Given the description of an element on the screen output the (x, y) to click on. 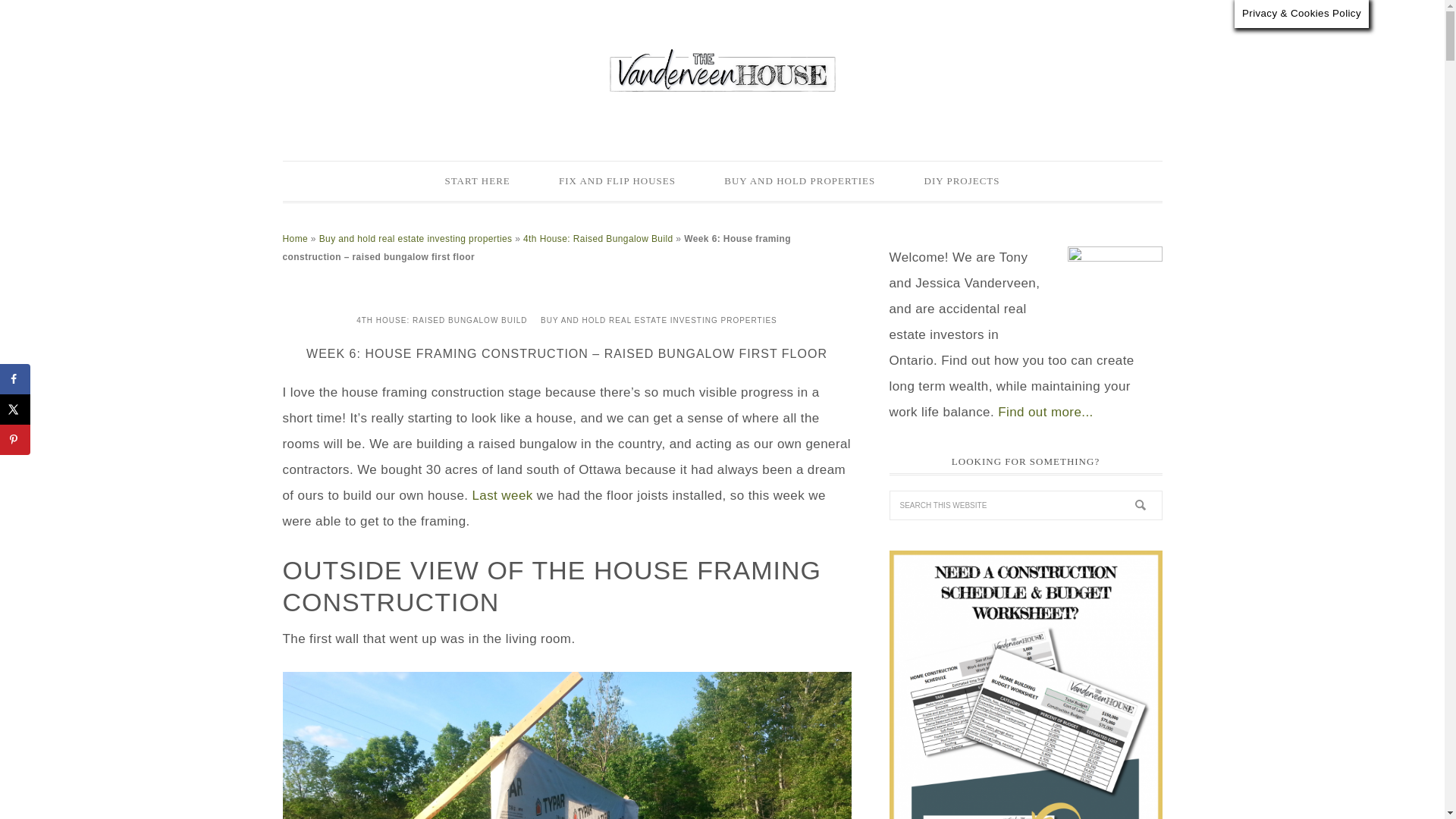
4th House: Raised Bungalow Build (597, 238)
Share on Facebook (15, 378)
4TH HOUSE: RAISED BUNGALOW BUILD (441, 320)
FIX AND FLIP HOUSES (616, 180)
Buy and hold real estate investing properties (415, 238)
BUY AND HOLD PROPERTIES (799, 180)
Save to Pinterest (15, 440)
Share on X (15, 409)
THE VANDERVEEN HOUSE (722, 69)
Last week (501, 495)
START HERE (477, 180)
Home (294, 238)
DIY PROJECTS (962, 180)
